Given the description of an element on the screen output the (x, y) to click on. 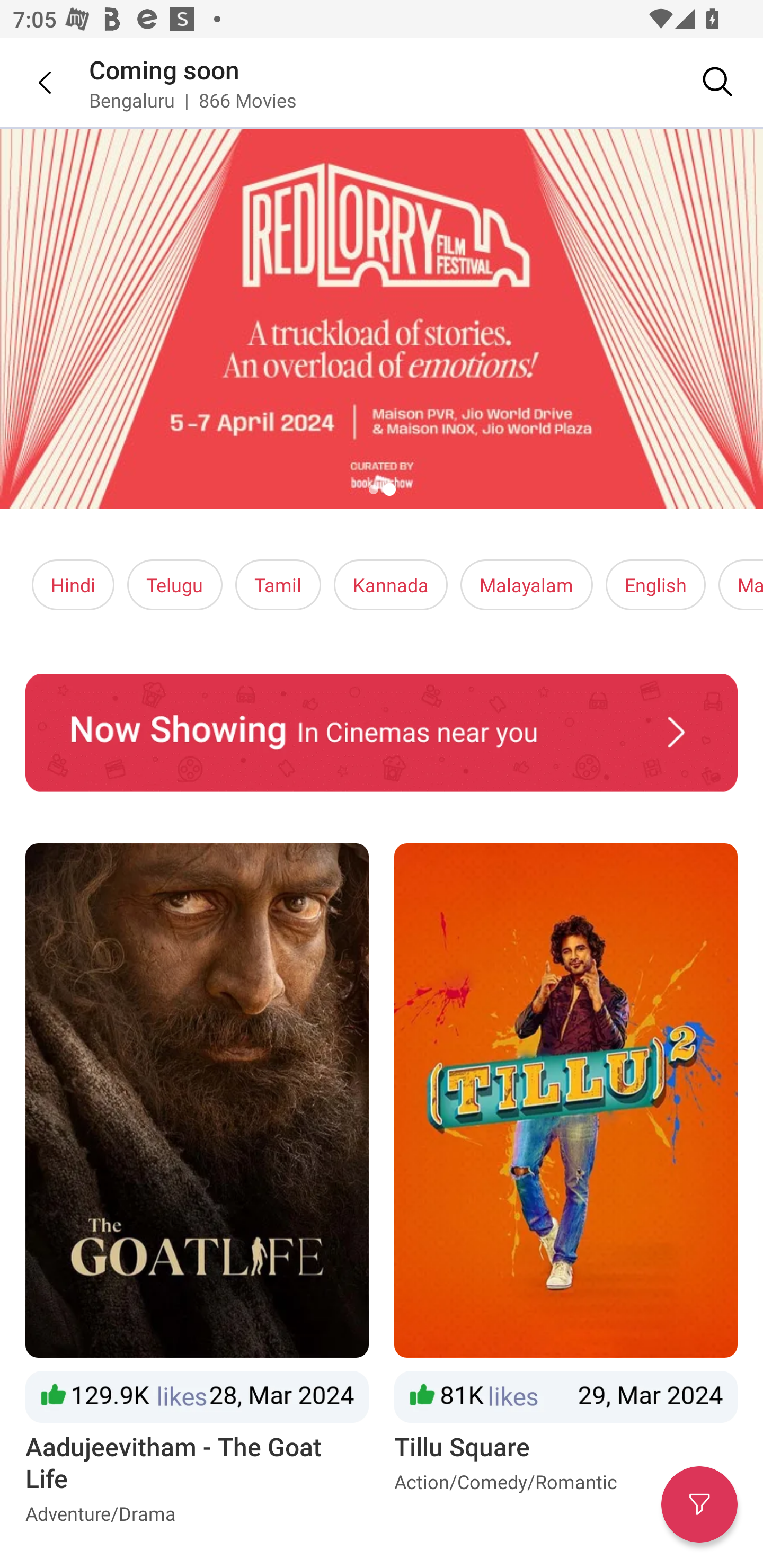
Back (31, 82)
Coming soon (164, 68)
Bengaluru  |  866 Movies (192, 99)
Hindi (73, 584)
Telugu (174, 584)
Tamil (278, 584)
Kannada (390, 584)
Malayalam (526, 584)
English (655, 584)
Aadujeevitham - The Goat Life Adventure/Drama (196, 1187)
Tillu Square Action/Comedy/Romantic (565, 1187)
Filter (699, 1504)
